Given the description of an element on the screen output the (x, y) to click on. 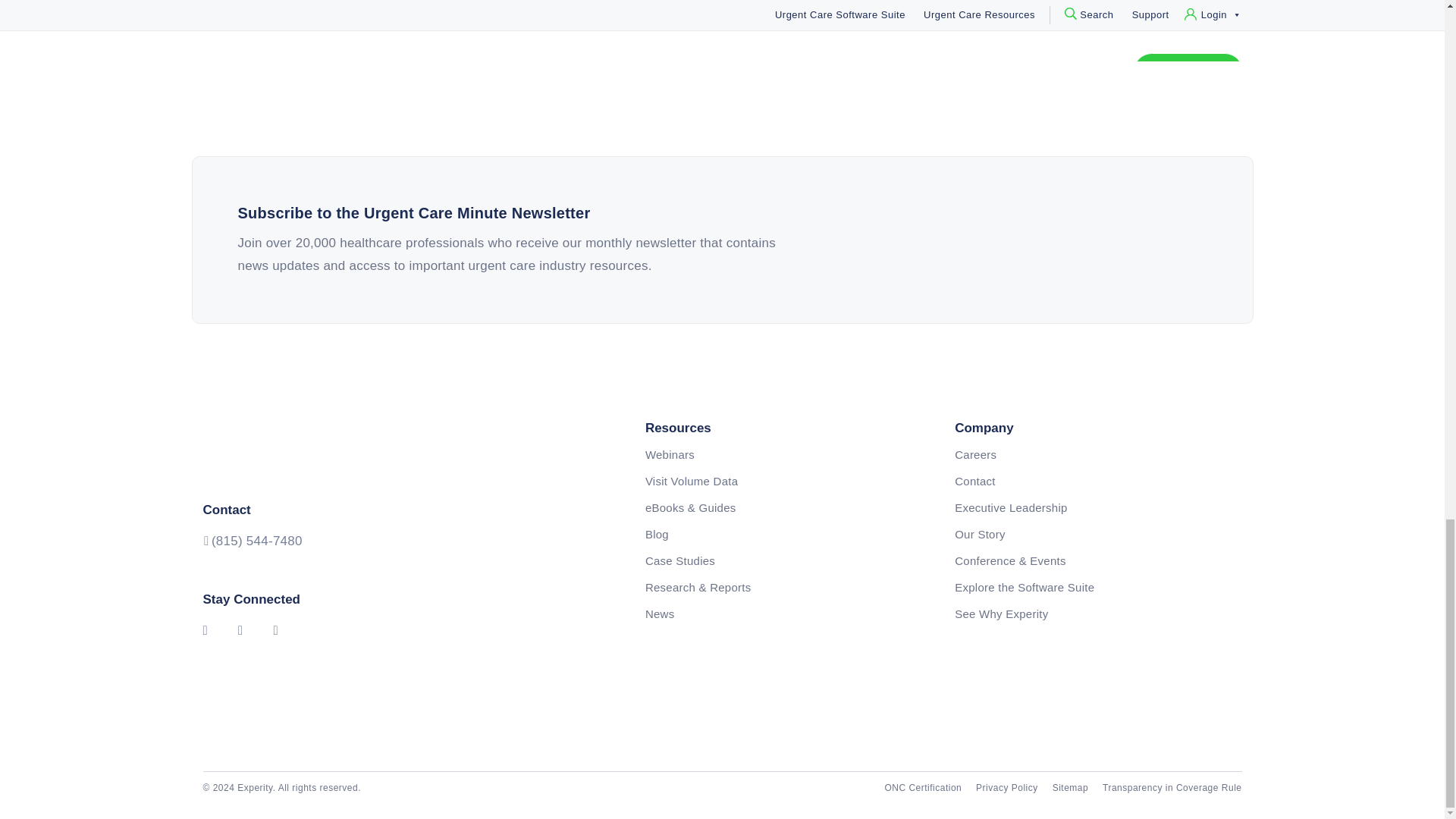
Visit Volume Data (788, 480)
Blog (788, 533)
Webinars (788, 454)
Resources (788, 427)
